Given the description of an element on the screen output the (x, y) to click on. 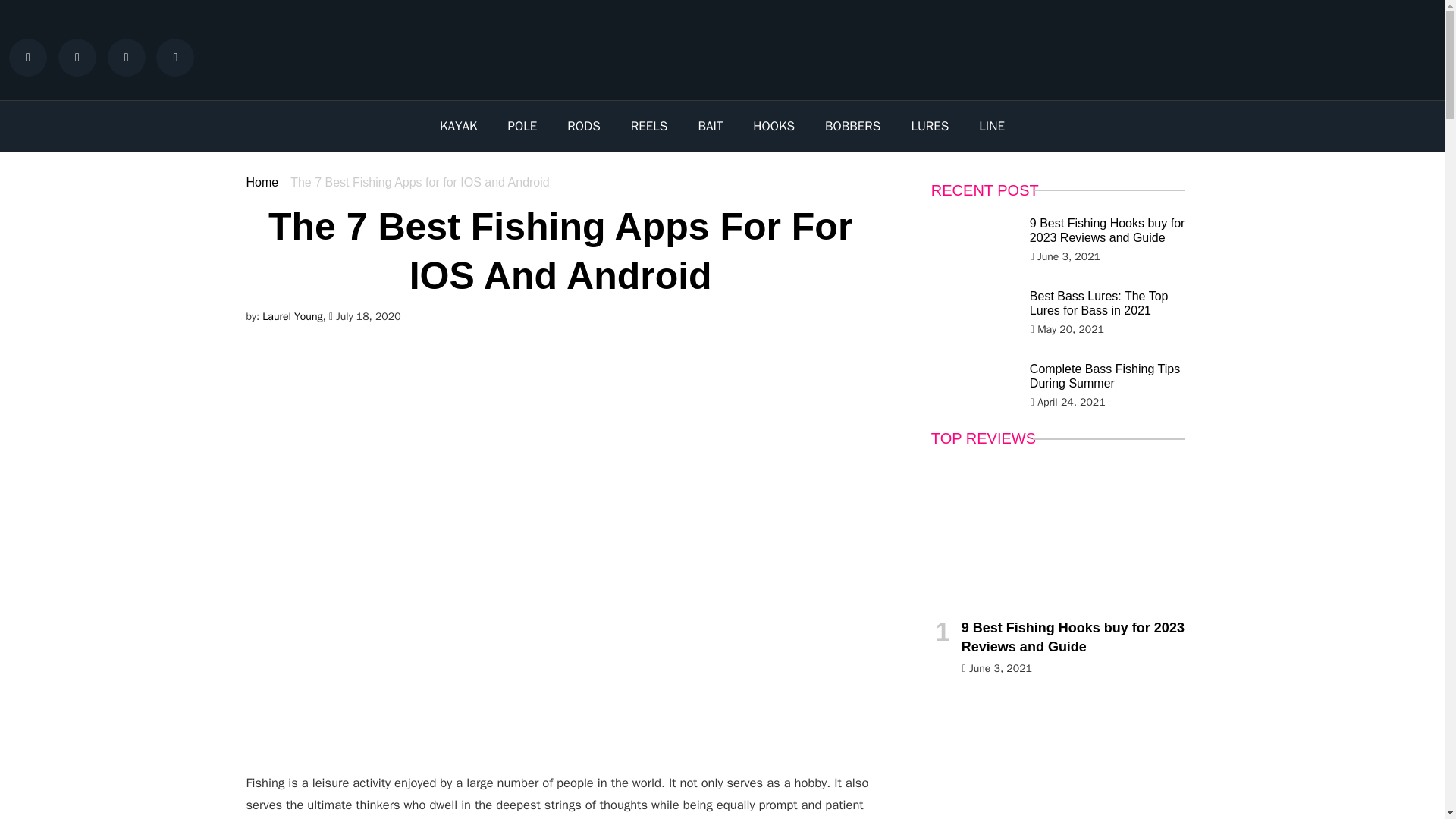
facebook (31, 57)
LINE (991, 126)
LURES (929, 126)
RODS (582, 126)
Twitter (80, 57)
pinterest (178, 57)
POLE (523, 126)
Home (262, 182)
Laurel Young (291, 316)
BAIT (710, 126)
